Given the description of an element on the screen output the (x, y) to click on. 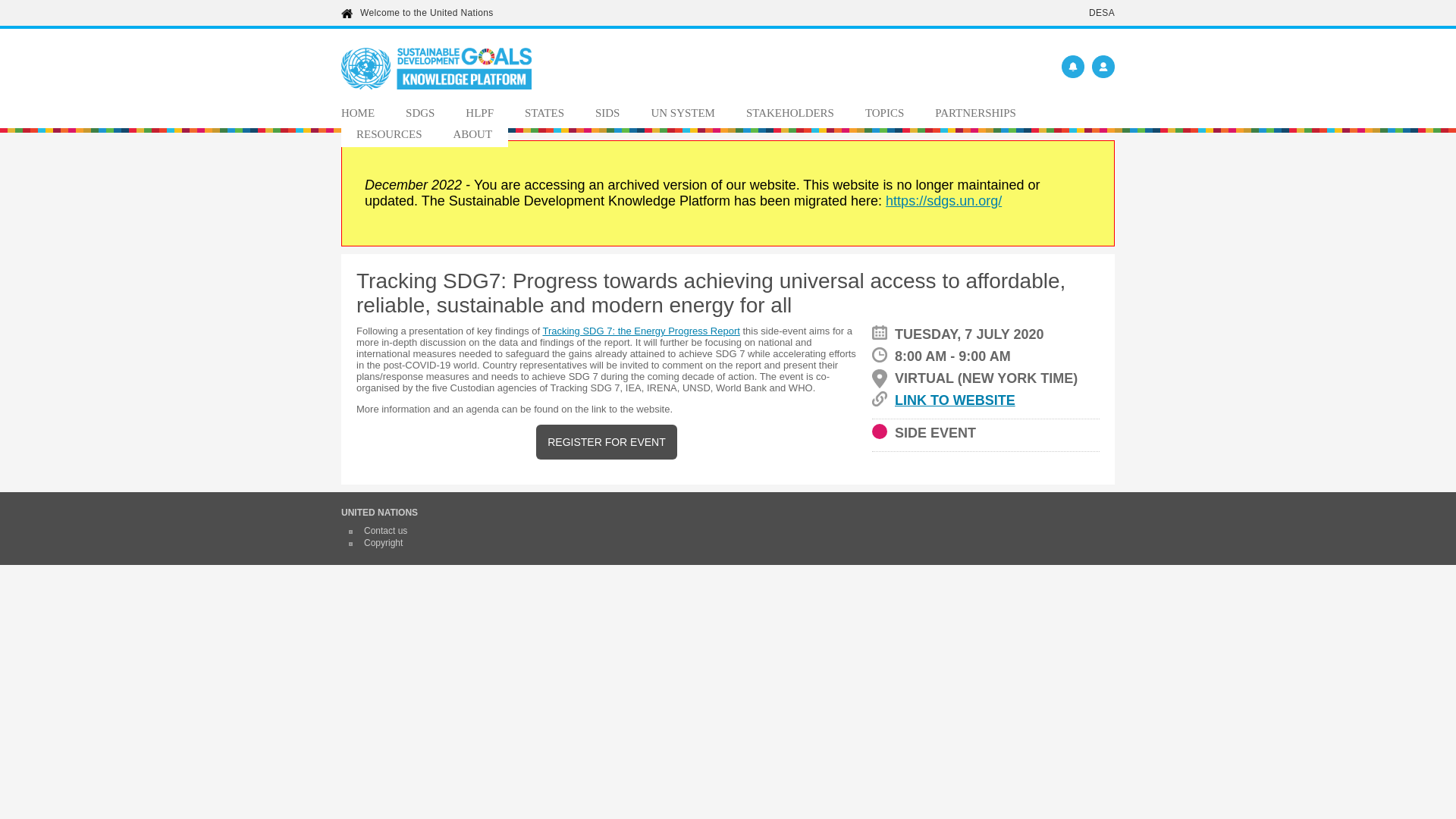
REGISTER FOR EVENT (606, 442)
Contact us (385, 530)
Welcome to the United Nations (426, 12)
LINK TO WEBSITE (985, 400)
REGISTER FOR EVENT (606, 441)
Tracking SDG 7: the Energy Progress Report (640, 330)
Copyright (383, 542)
DESA (1102, 12)
